Given the description of an element on the screen output the (x, y) to click on. 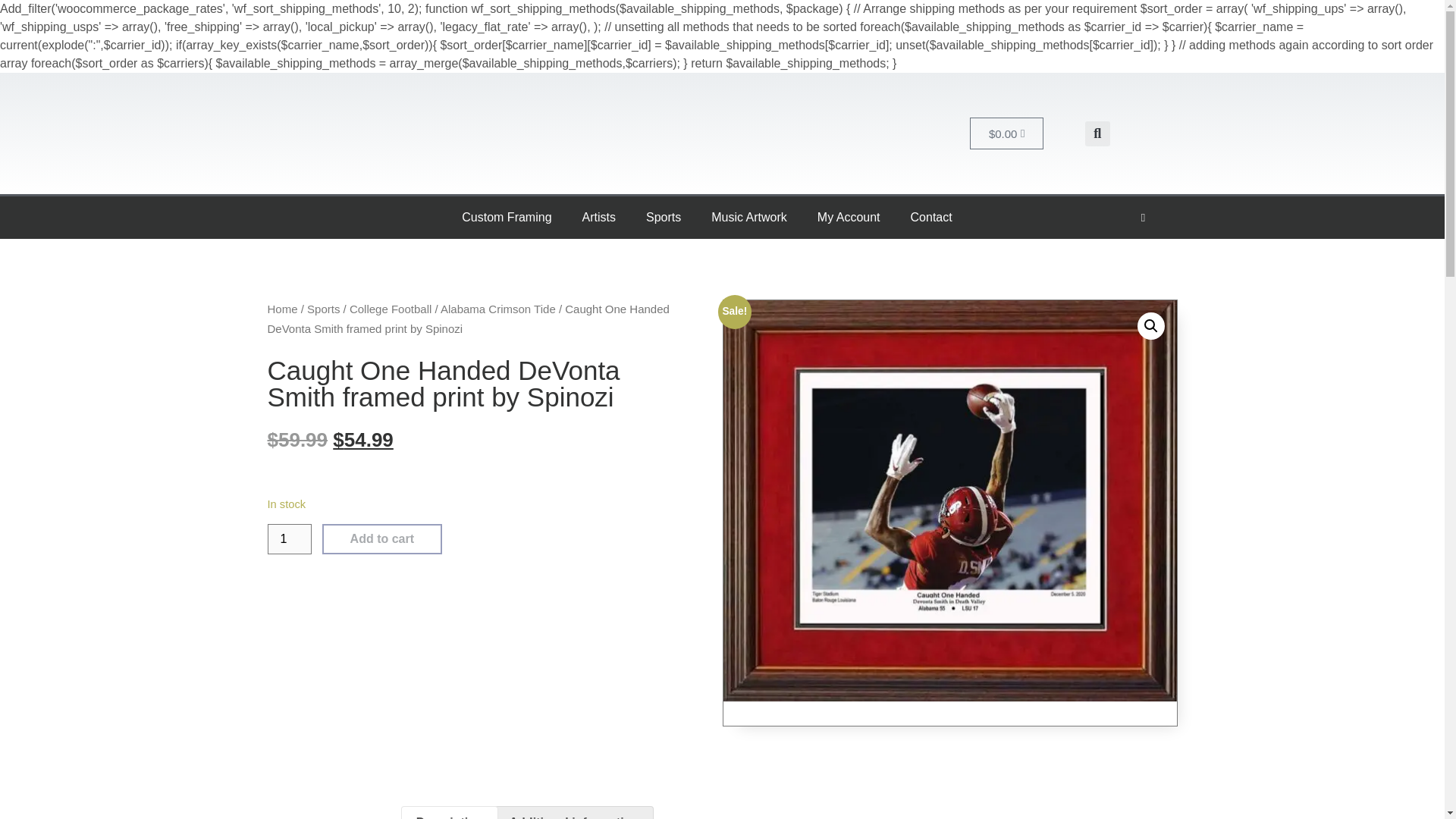
Music Artwork (748, 217)
Custom Framing (506, 217)
Sports (662, 217)
Artists (598, 217)
Contact (931, 217)
1 (288, 539)
Customer Account Page (848, 217)
My Account (848, 217)
